Given the description of an element on the screen output the (x, y) to click on. 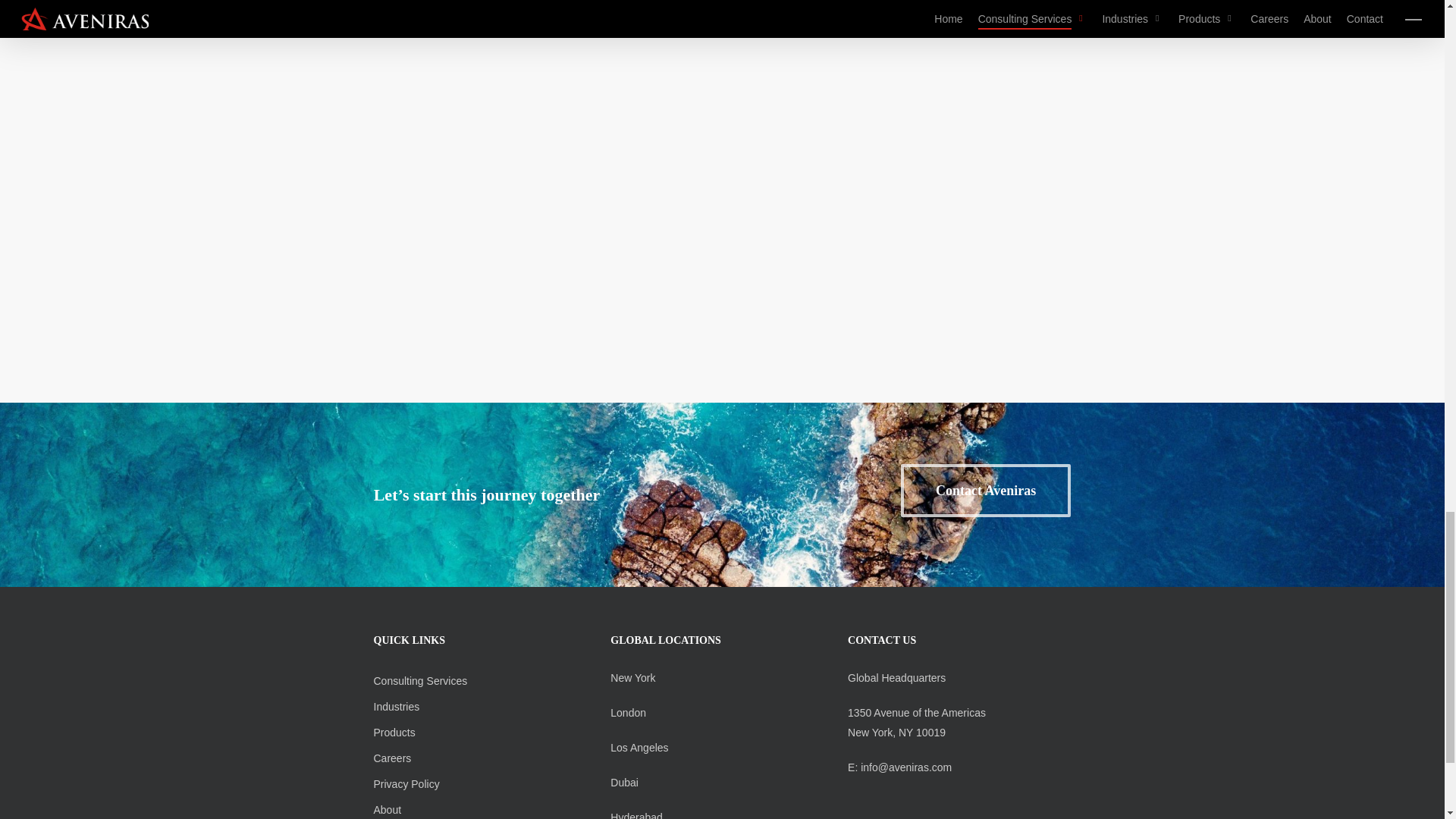
Consulting Services (419, 680)
About (386, 809)
Products (393, 732)
Privacy Policy (405, 784)
Careers (391, 758)
Industries (395, 706)
Contact Aveniras (985, 490)
